Given the description of an element on the screen output the (x, y) to click on. 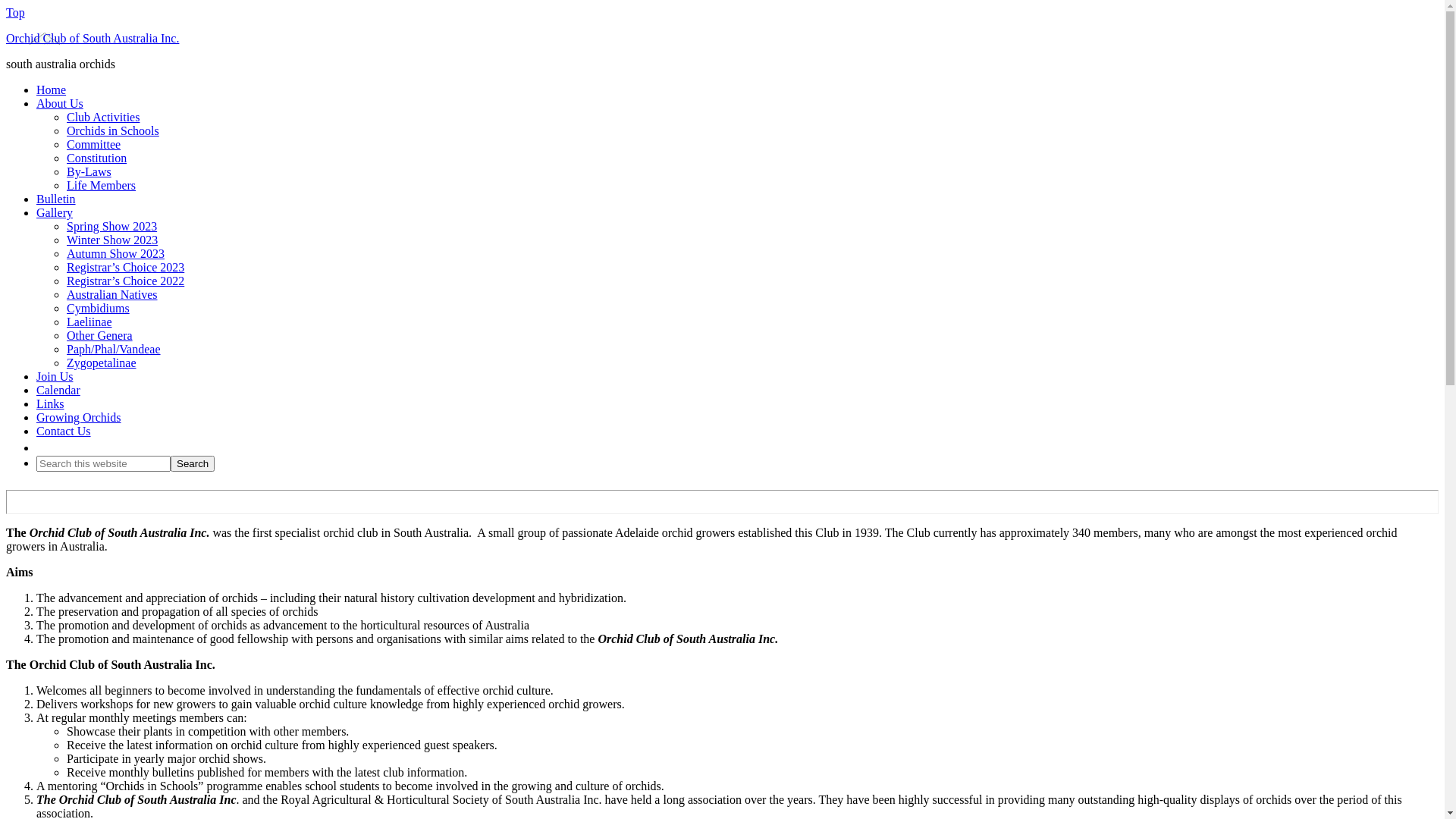
Join Us Element type: text (54, 376)
Growing Orchids Element type: text (78, 417)
Committee Element type: text (93, 144)
Other Genera Element type: text (99, 335)
Laeliinae Element type: text (89, 321)
Top Element type: text (15, 12)
Calendar Element type: text (58, 389)
Links Element type: text (49, 403)
Australian Natives Element type: text (111, 294)
Paph/Phal/Vandeae Element type: text (113, 348)
Gallery Element type: text (54, 212)
Life Members Element type: text (100, 184)
Club Activities Element type: text (102, 116)
Orchid Club of South Australia Inc. Element type: text (92, 37)
Contact Us Element type: text (63, 430)
Bulletin Element type: text (55, 198)
Spring Show 2023 Element type: text (111, 225)
Orchids in Schools Element type: text (112, 130)
Constitution Element type: text (96, 157)
Zygopetalinae Element type: text (101, 362)
Winter Show 2023 Element type: text (111, 239)
Cymbidiums Element type: text (97, 307)
About Us Element type: text (59, 103)
Search Element type: text (192, 463)
By-Laws Element type: text (88, 171)
Home Element type: text (50, 89)
Autumn Show 2023 Element type: text (115, 253)
